Given the description of an element on the screen output the (x, y) to click on. 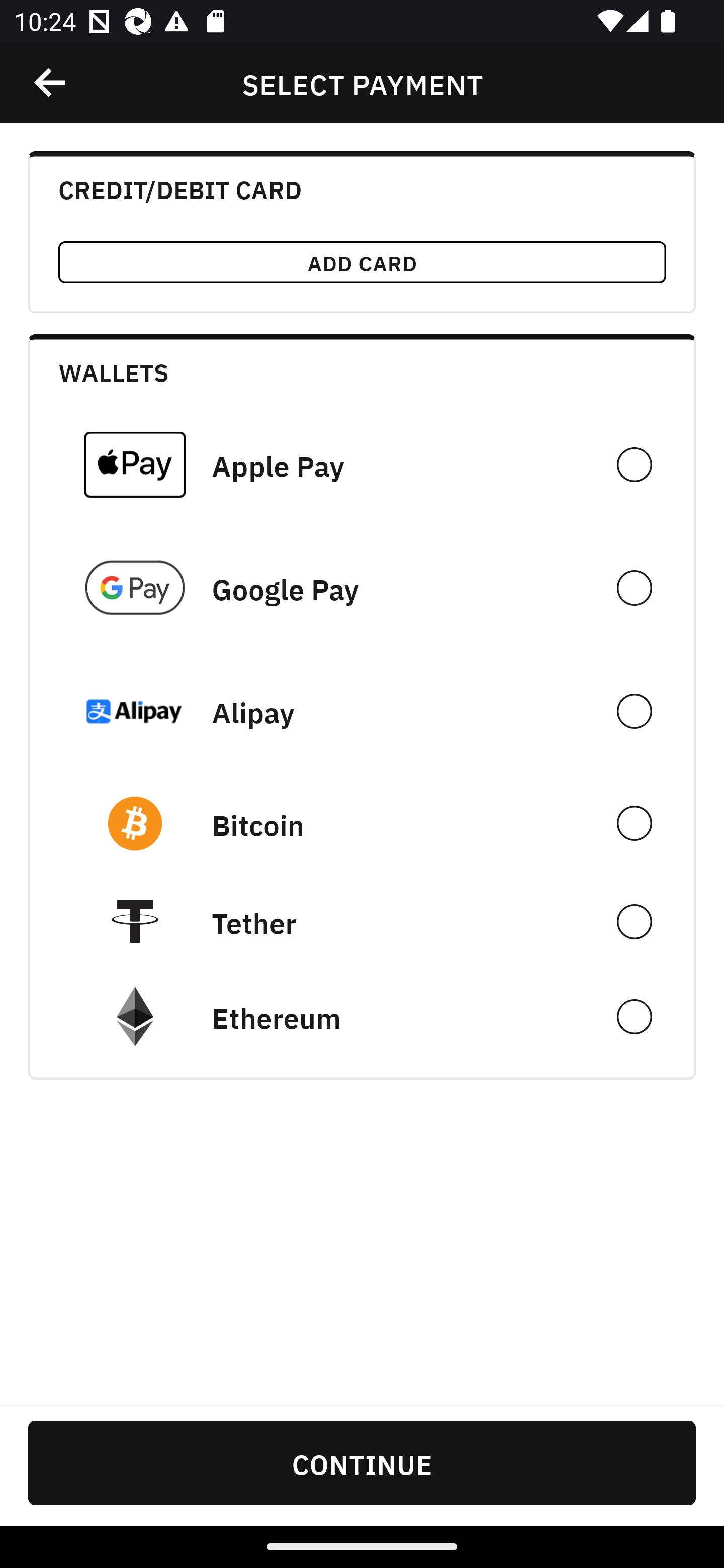
 (50, 83)
ADD CARD (362, 262)
Apple Pay (362, 464)
Google Pay (362, 587)
Alipay (362, 711)
󰠓 Bitcoin (362, 823)
Tether (362, 921)
Ethereum (362, 1016)
CONTINUE (361, 1462)
